Given the description of an element on the screen output the (x, y) to click on. 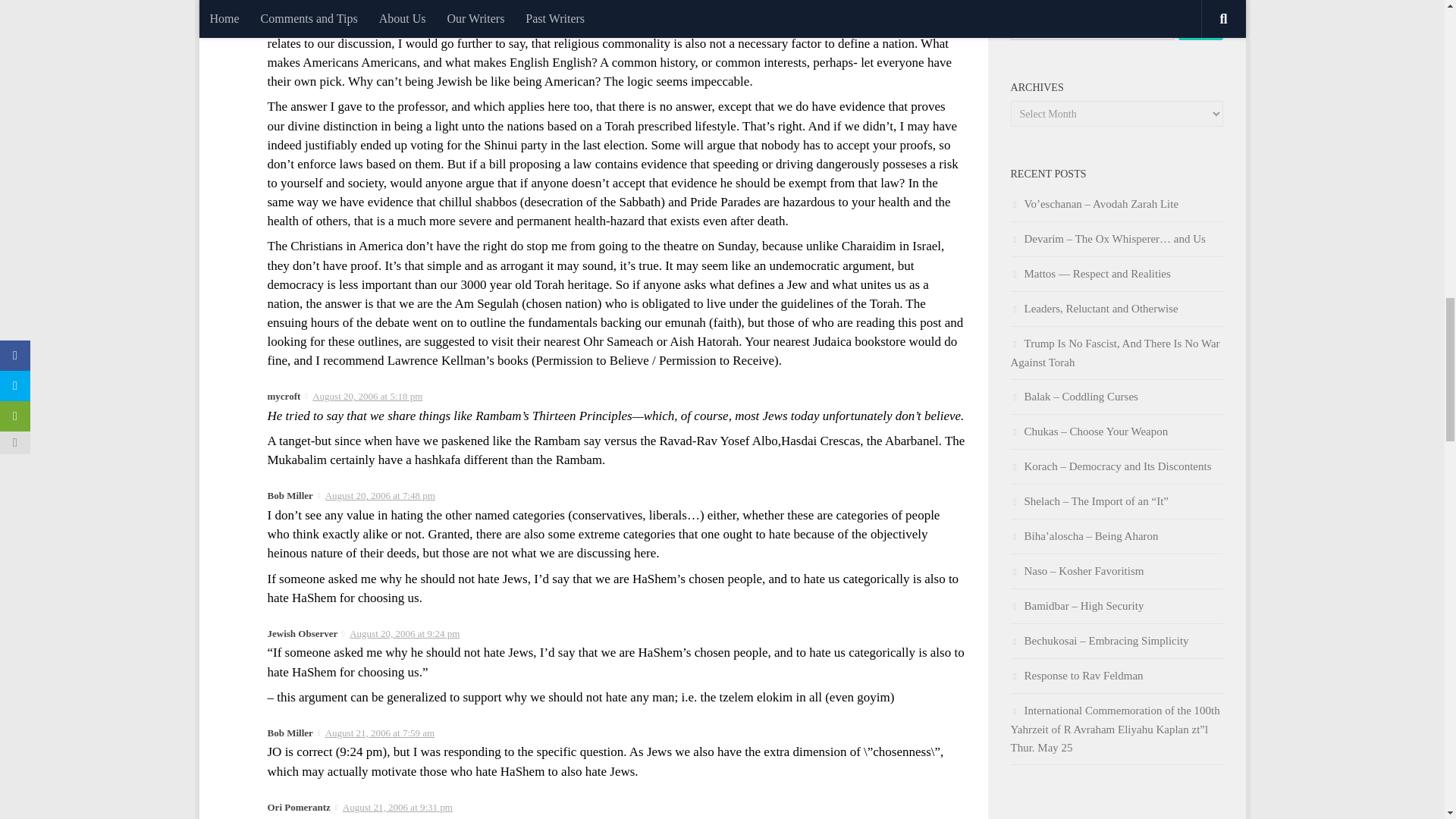
August 20, 2006 at 9:24 pm (404, 633)
Search (1200, 25)
August 20, 2006 at 7:48 pm (379, 495)
Search (1200, 25)
August 20, 2006 at 5:18 pm (367, 396)
August 21, 2006 at 7:59 am (378, 732)
